Given the description of an element on the screen output the (x, y) to click on. 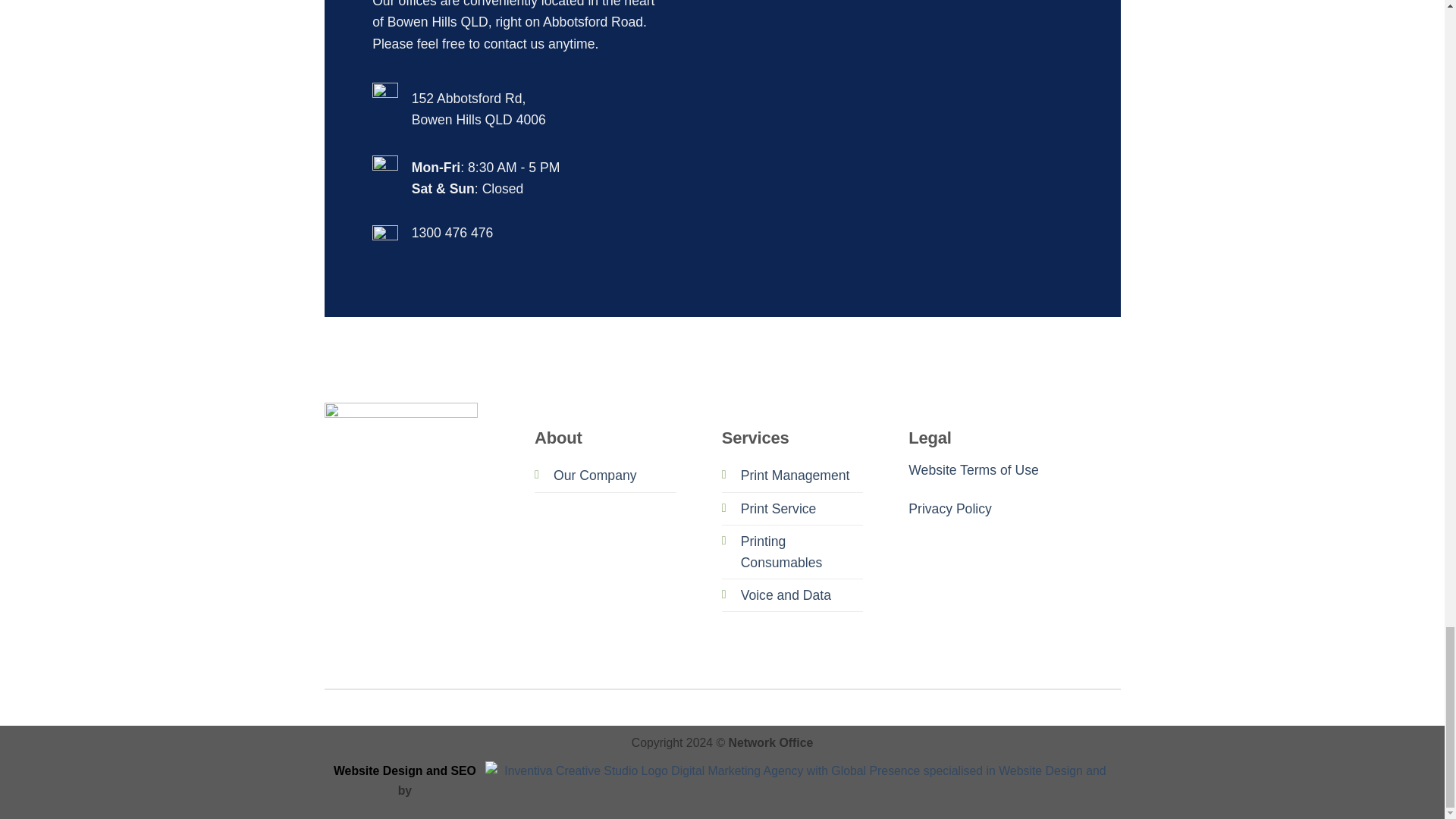
Printing Consumables (781, 551)
Our Company (595, 475)
Website Terms of Use (973, 469)
Print Service (778, 508)
Print Management (795, 475)
Privacy Policy (949, 508)
and SEO (451, 770)
Voice and Data (786, 595)
Website Design (379, 770)
